Given the description of an element on the screen output the (x, y) to click on. 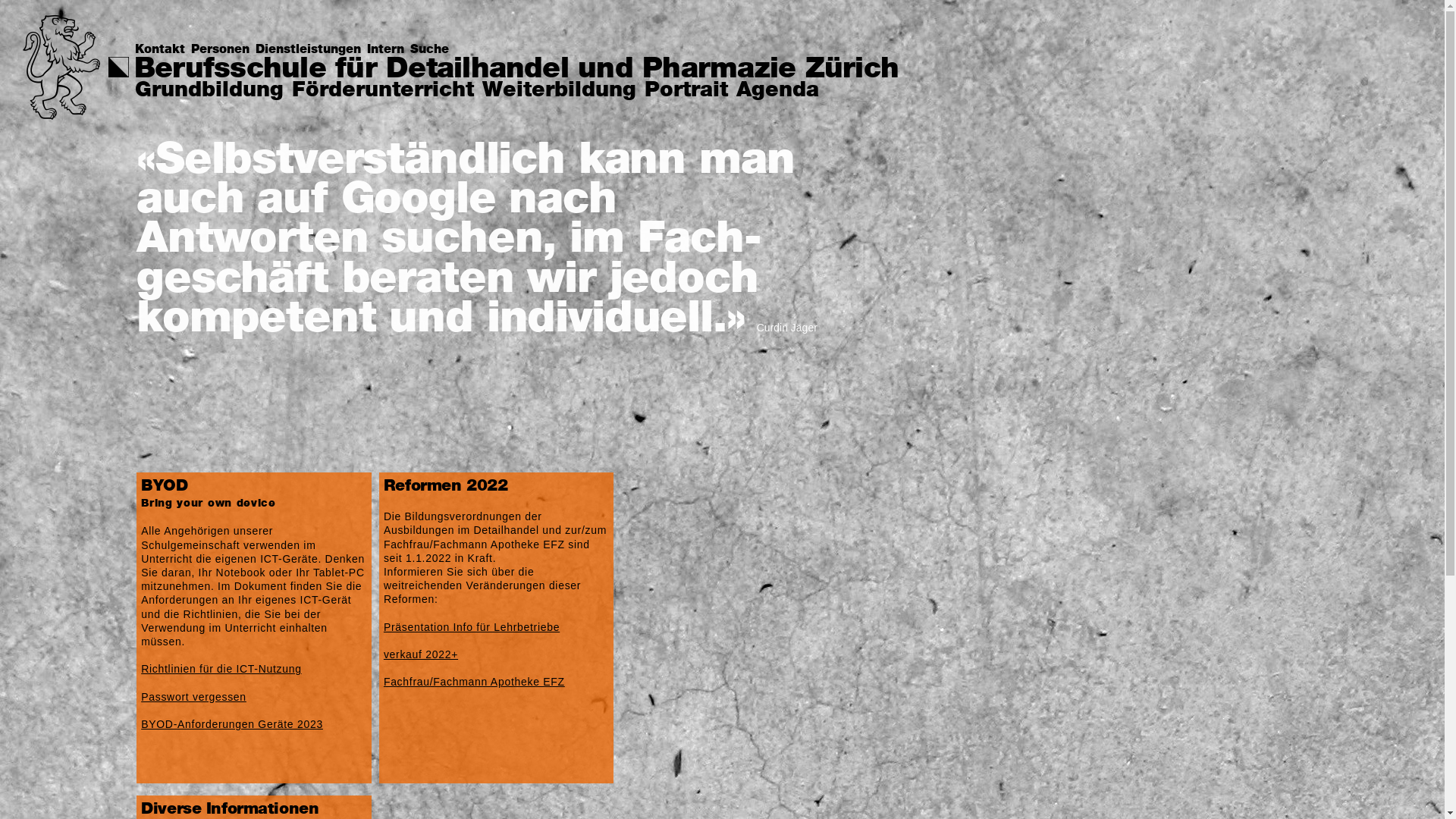
Grundbildung Element type: text (208, 90)
Kontakt Element type: text (162, 49)
Personen Element type: text (223, 49)
Intern Element type: text (388, 49)
Passwort vergessen Element type: text (193, 696)
Portrait Element type: text (686, 90)
Fachfrau/Fachmann Apotheke EFZ Element type: text (473, 681)
Agenda Element type: text (777, 90)
Suche Element type: text (432, 49)
Weiterbildung Element type: text (559, 90)
verkauf 2022+ Element type: text (420, 654)
Dienstleistungen Element type: text (311, 49)
